Given the description of an element on the screen output the (x, y) to click on. 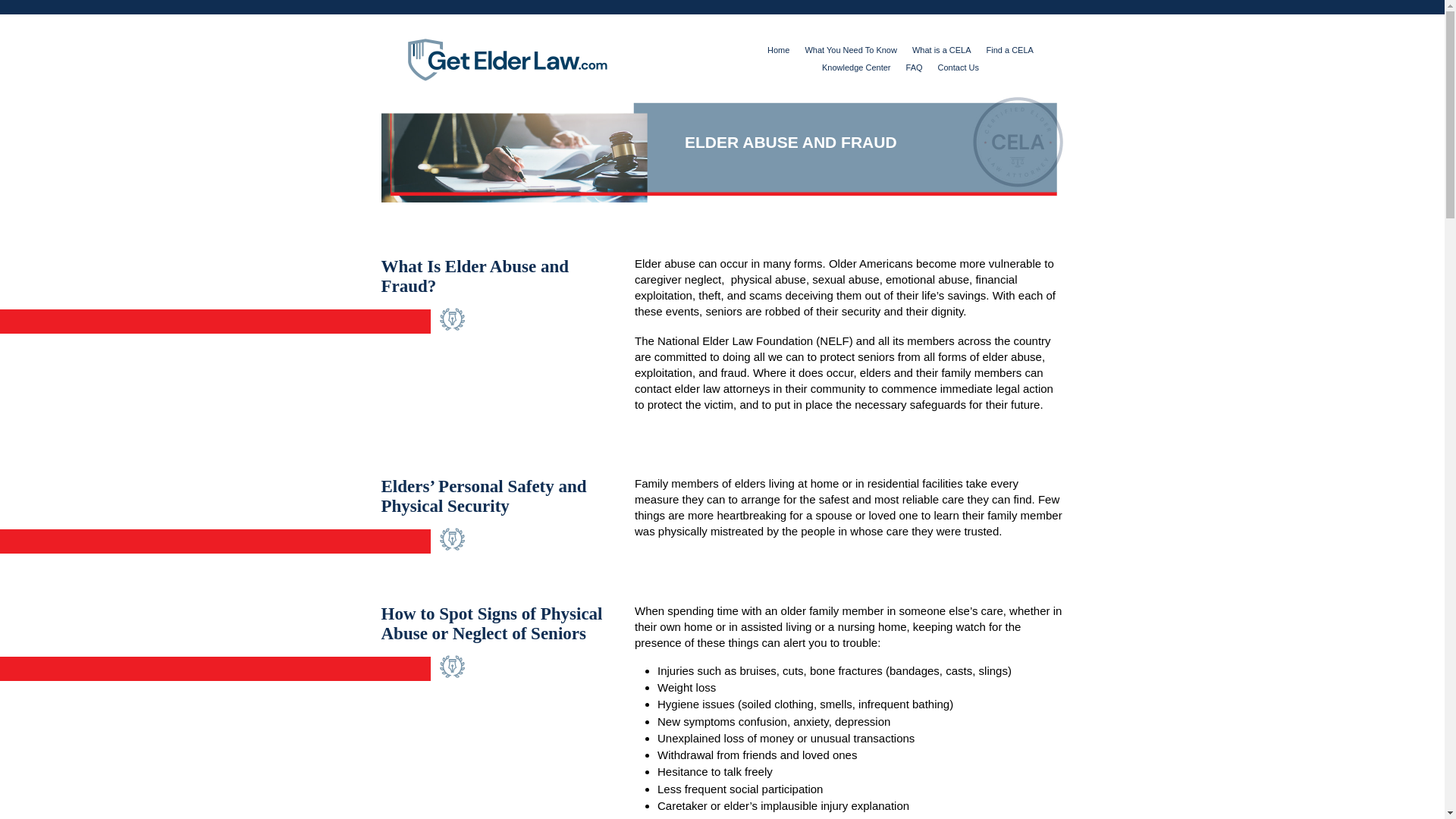
Find a CELA (1010, 49)
Home (778, 49)
FAQ (914, 67)
Knowledge Center (856, 67)
What You Need To Know (850, 49)
Contact Us (957, 67)
What is a CELA (941, 49)
